Given the description of an element on the screen output the (x, y) to click on. 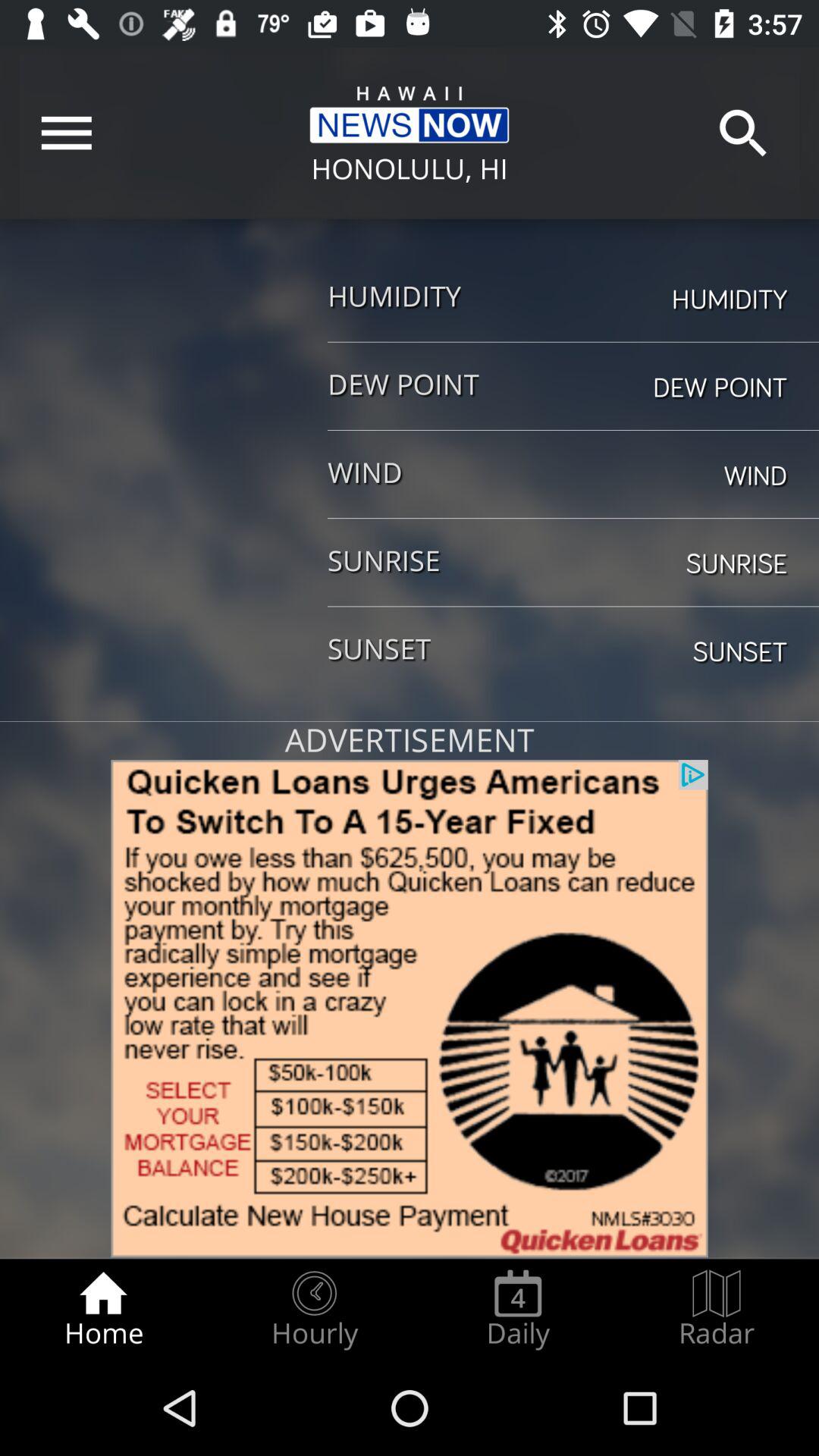
advertisement (409, 1008)
